Given the description of an element on the screen output the (x, y) to click on. 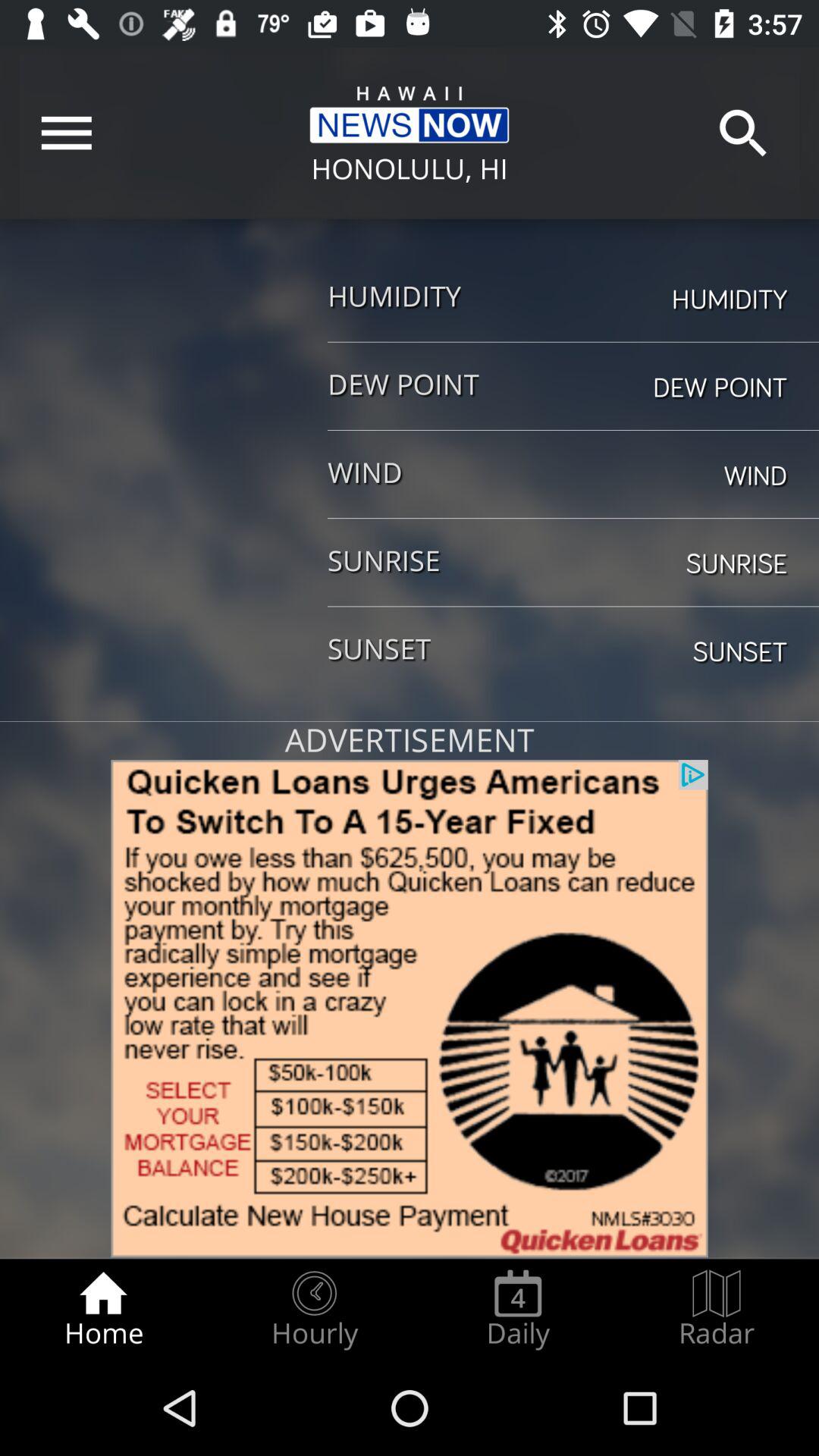
advertisement (409, 1008)
